Given the description of an element on the screen output the (x, y) to click on. 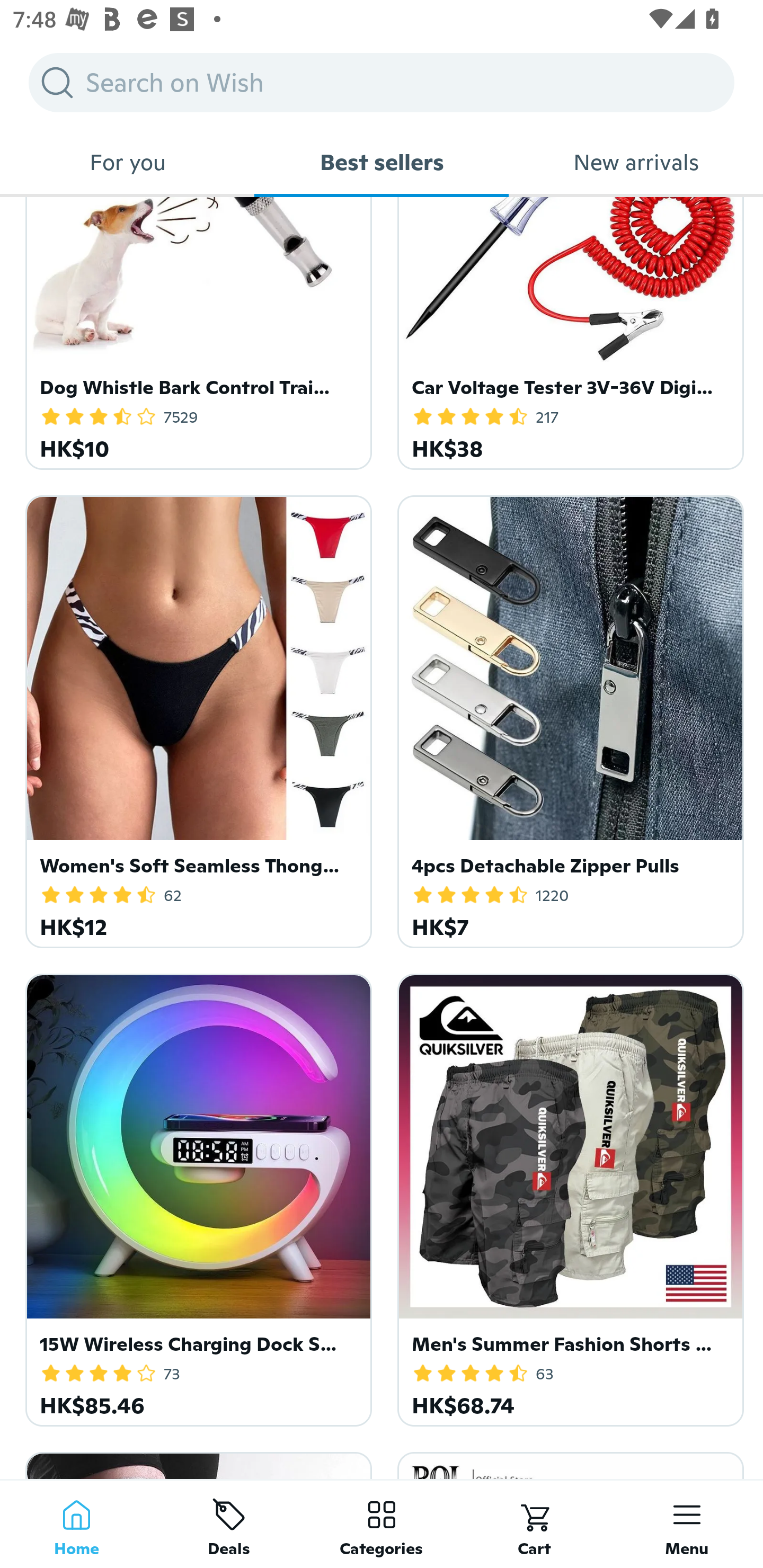
Search on Wish (381, 82)
For you (127, 161)
Best sellers (381, 161)
New arrivals (635, 161)
Home (76, 1523)
Deals (228, 1523)
Categories (381, 1523)
Cart (533, 1523)
Menu (686, 1523)
